Given the description of an element on the screen output the (x, y) to click on. 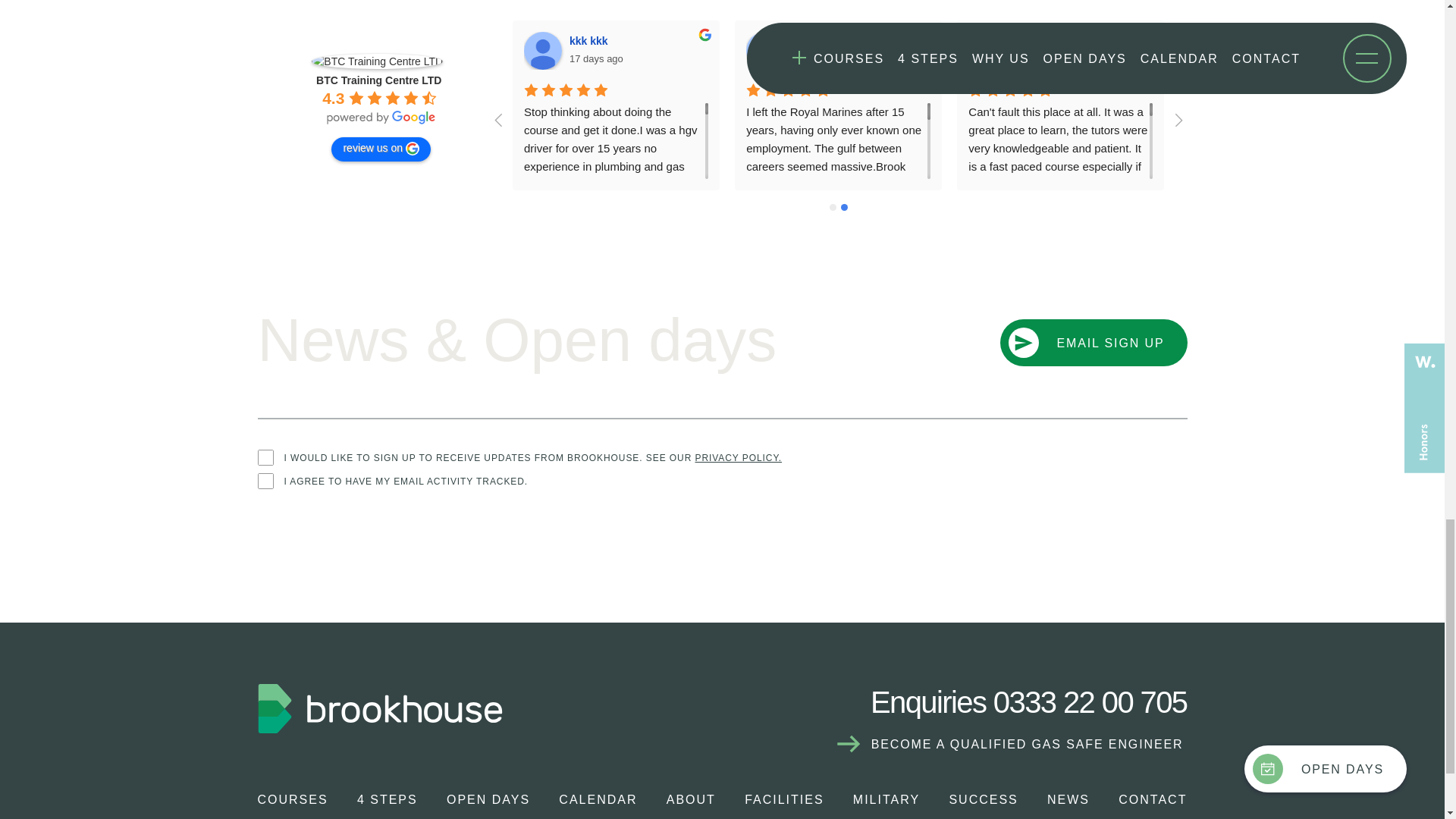
on (265, 457)
BTC Training Centre LTD (376, 60)
Daniel Croft (987, 50)
Michael Greenwood (764, 50)
kkk kkk (590, 40)
Michael Greenwood (844, 40)
on (265, 480)
BTC Training Centre LTD (378, 80)
Daniel Croft (1045, 40)
review us on (380, 149)
kkk kkk (543, 50)
Ben Andrew (1209, 50)
powered by Google (380, 117)
